Given the description of an element on the screen output the (x, y) to click on. 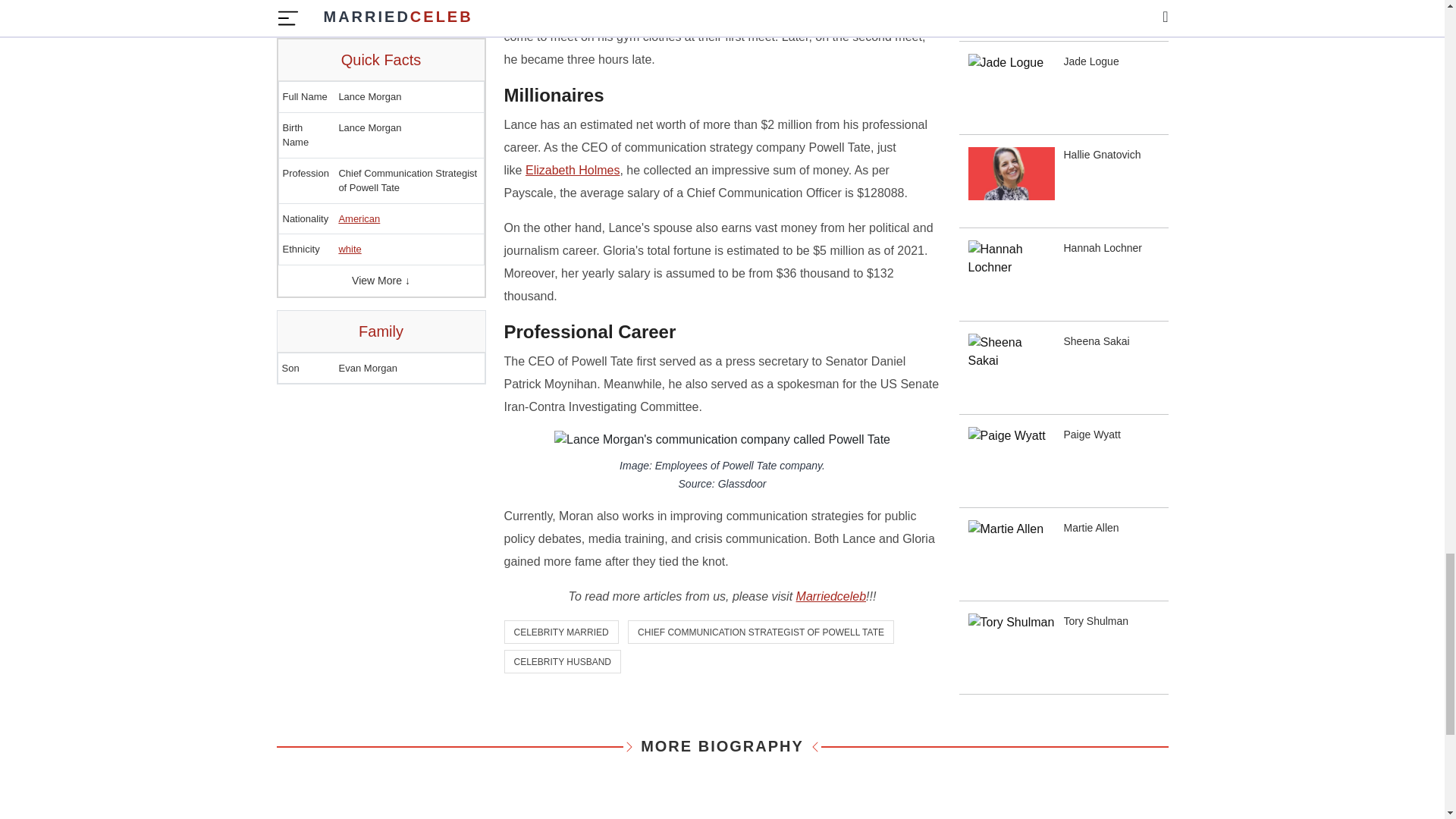
Marriedceleb (831, 595)
Elizabeth Holmes (572, 169)
